Given the description of an element on the screen output the (x, y) to click on. 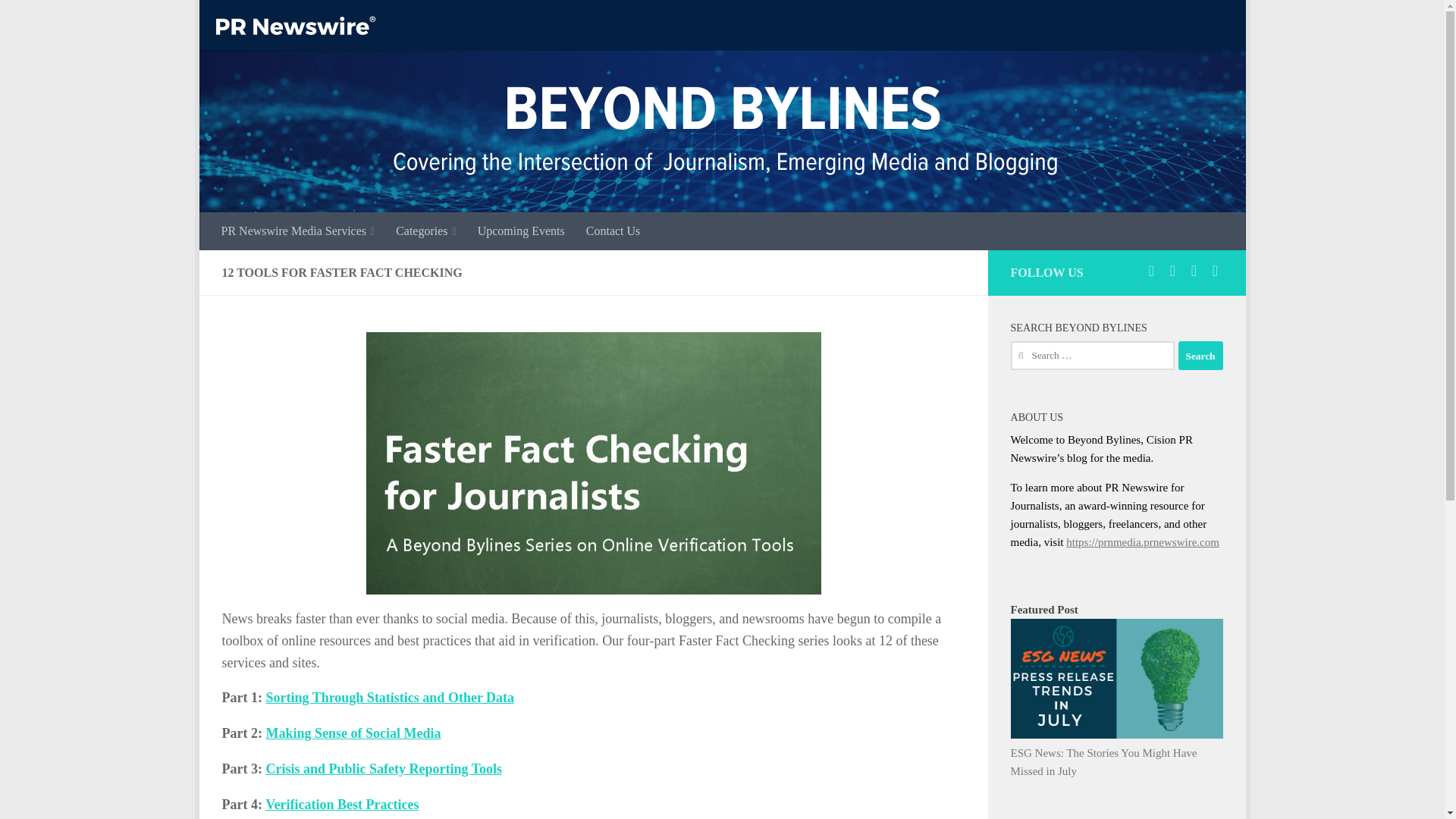
Upcoming Events (521, 231)
PR Newswire Media Services (298, 231)
Follow us on Rss (1215, 270)
Crisis and Public Safety Reporting Tools (383, 768)
Search (1200, 355)
Skip to content (258, 20)
Verification Best Practices (341, 804)
Making Sense of Social Media (352, 733)
Categories (426, 231)
Follow us on Facebook (1171, 270)
Contact Us (612, 231)
Sorting Through Statistics and Other Data (388, 697)
Search (1200, 355)
Follow us on Linkedin (1193, 270)
Follow us on Twitter (1150, 270)
